Given the description of an element on the screen output the (x, y) to click on. 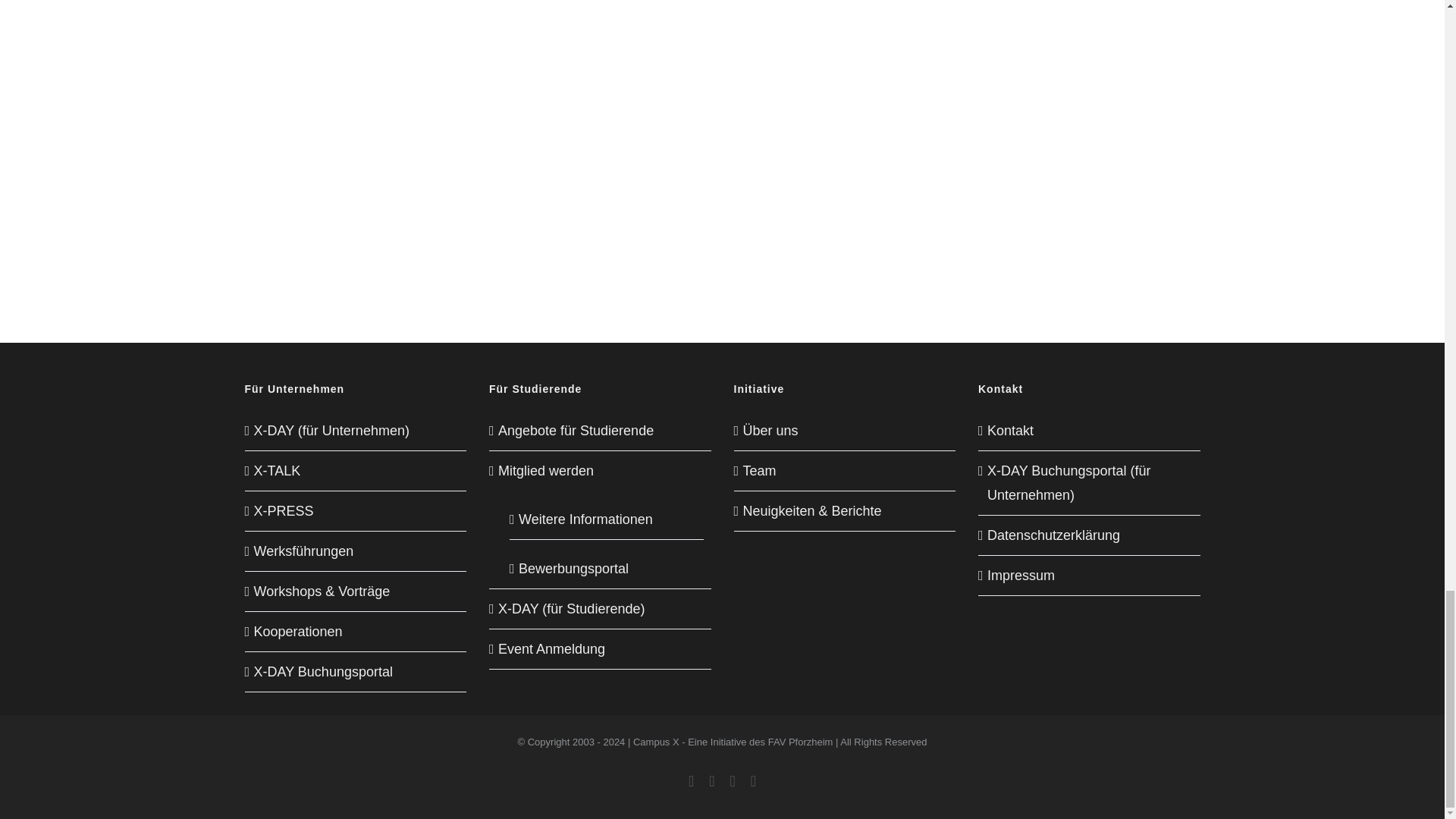
X-DAY Buchungsportal (355, 671)
Mitglied werden (600, 470)
Event Anmeldung (600, 648)
X-TALK (355, 470)
Kooperationen (355, 631)
X-PRESS (355, 510)
Bewerbungsportal (606, 563)
Weitere Informationen (606, 514)
